Given the description of an element on the screen output the (x, y) to click on. 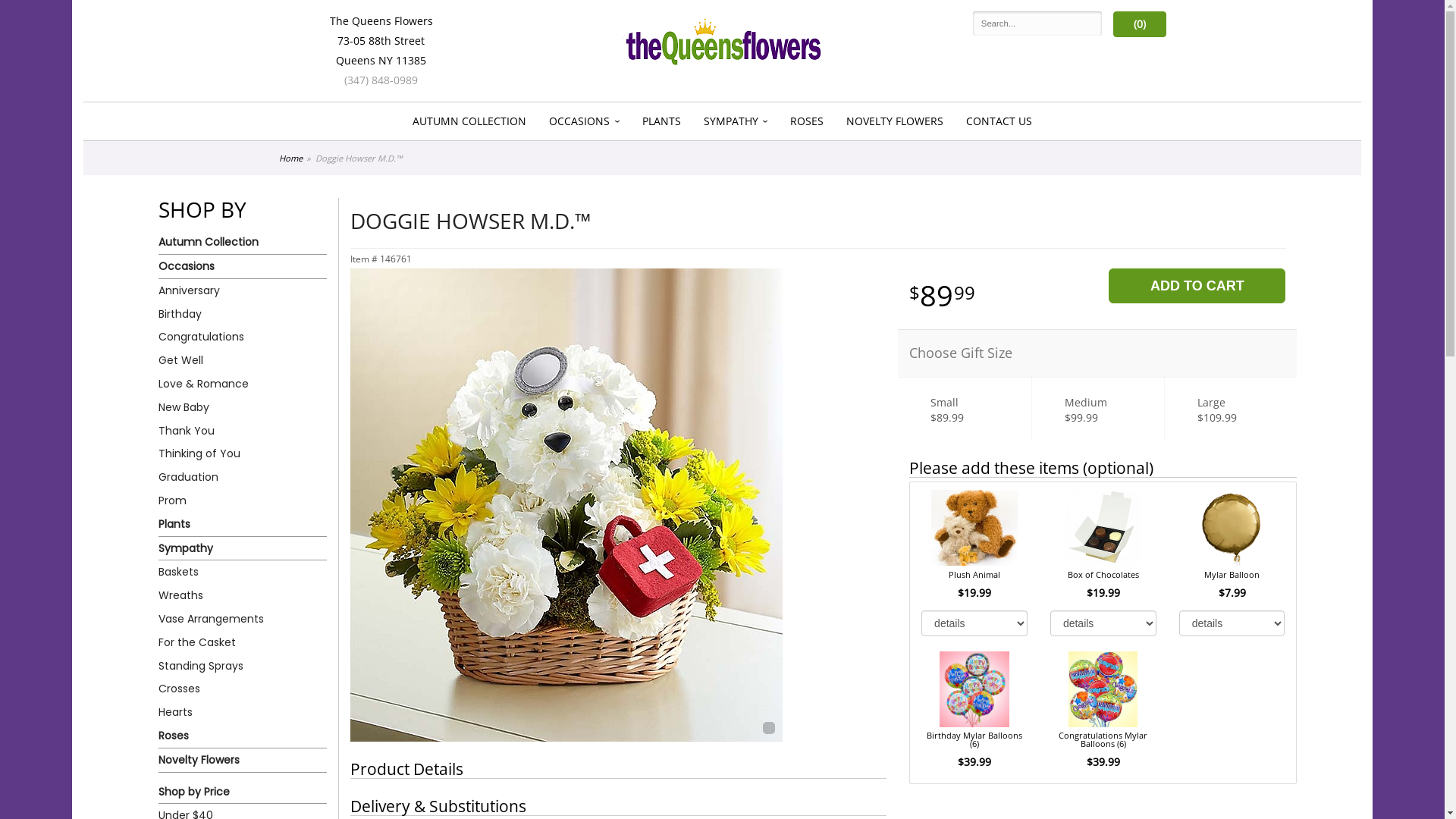
Anniversary Element type: text (242, 290)
NOVELTY FLOWERS Element type: text (894, 121)
Birthday Element type: text (242, 314)
Shop by Price Element type: text (242, 792)
PLANTS Element type: text (661, 121)
AUTUMN COLLECTION Element type: text (469, 121)
Baskets Element type: text (242, 571)
Crosses Element type: text (242, 688)
Sympathy Element type: text (242, 548)
New Baby Element type: text (242, 407)
Plants Element type: text (242, 524)
Home Element type: text (290, 157)
(347) 848-0989 Element type: text (380, 79)
(0) Element type: text (1139, 24)
CONTACT US Element type: text (998, 121)
Wreaths Element type: text (242, 595)
ADD TO CART Element type: text (1196, 285)
Thinking of You Element type: text (242, 453)
Thank You Element type: text (242, 430)
Prom Element type: text (242, 500)
Roses Element type: text (242, 736)
For the Casket Element type: text (242, 642)
Love & Romance Element type: text (242, 383)
Autumn Collection Element type: text (242, 242)
Standing Sprays Element type: text (242, 665)
OCCASIONS Element type: text (583, 121)
Vase Arrangements Element type: text (242, 618)
Get Well Element type: text (242, 360)
ROSES Element type: text (806, 121)
SYMPATHY Element type: text (734, 121)
Hearts Element type: text (242, 712)
Graduation Element type: text (242, 477)
Congratulations Element type: text (242, 336)
Occasions Element type: text (242, 266)
Novelty Flowers Element type: text (242, 760)
